Given the description of an element on the screen output the (x, y) to click on. 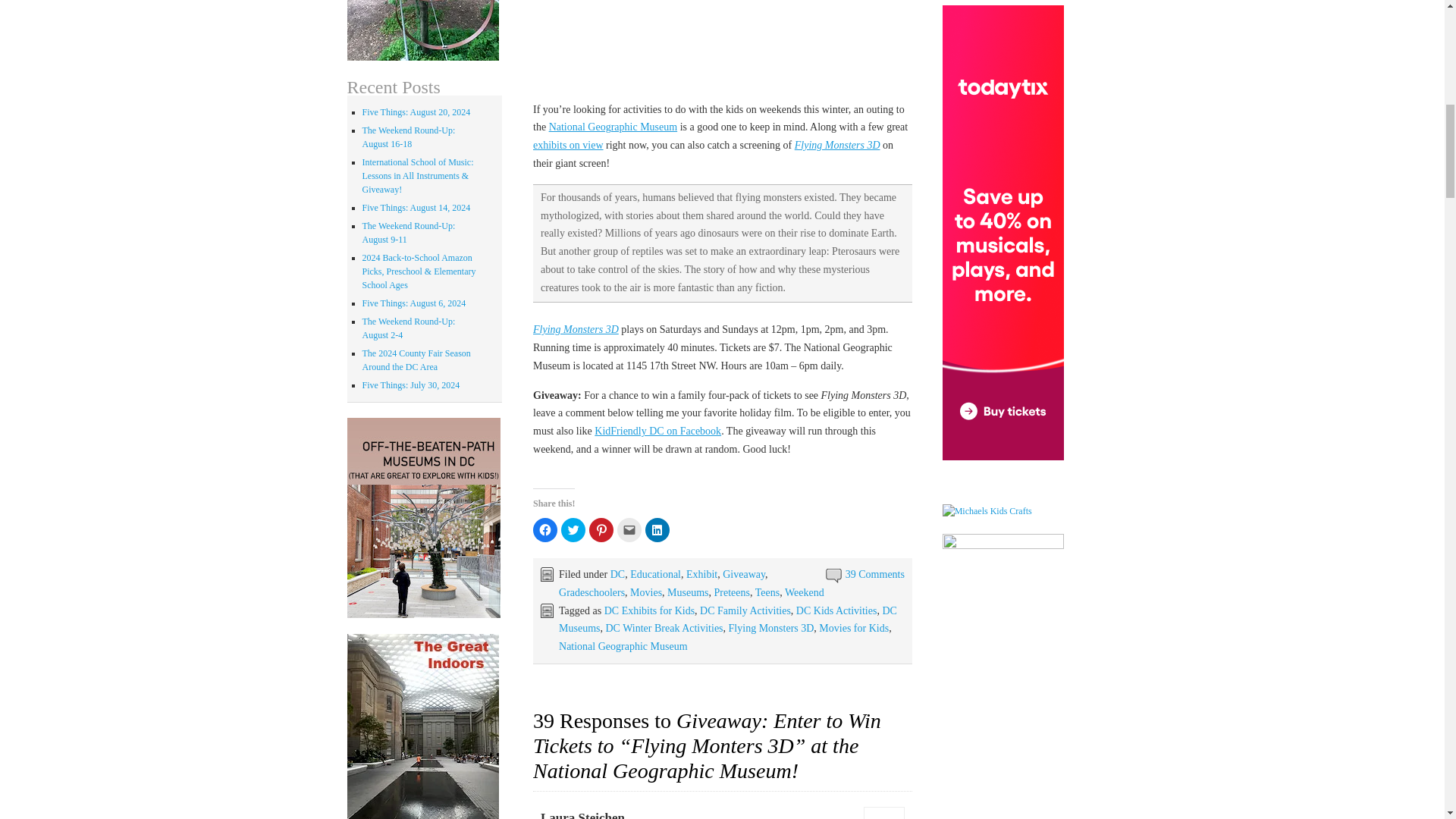
Click to share on Facebook (544, 529)
Click to share on Twitter (572, 529)
Click to email this to a friend (629, 529)
Click to share on LinkedIn (657, 529)
Click to share on Pinterest (600, 529)
